Given the description of an element on the screen output the (x, y) to click on. 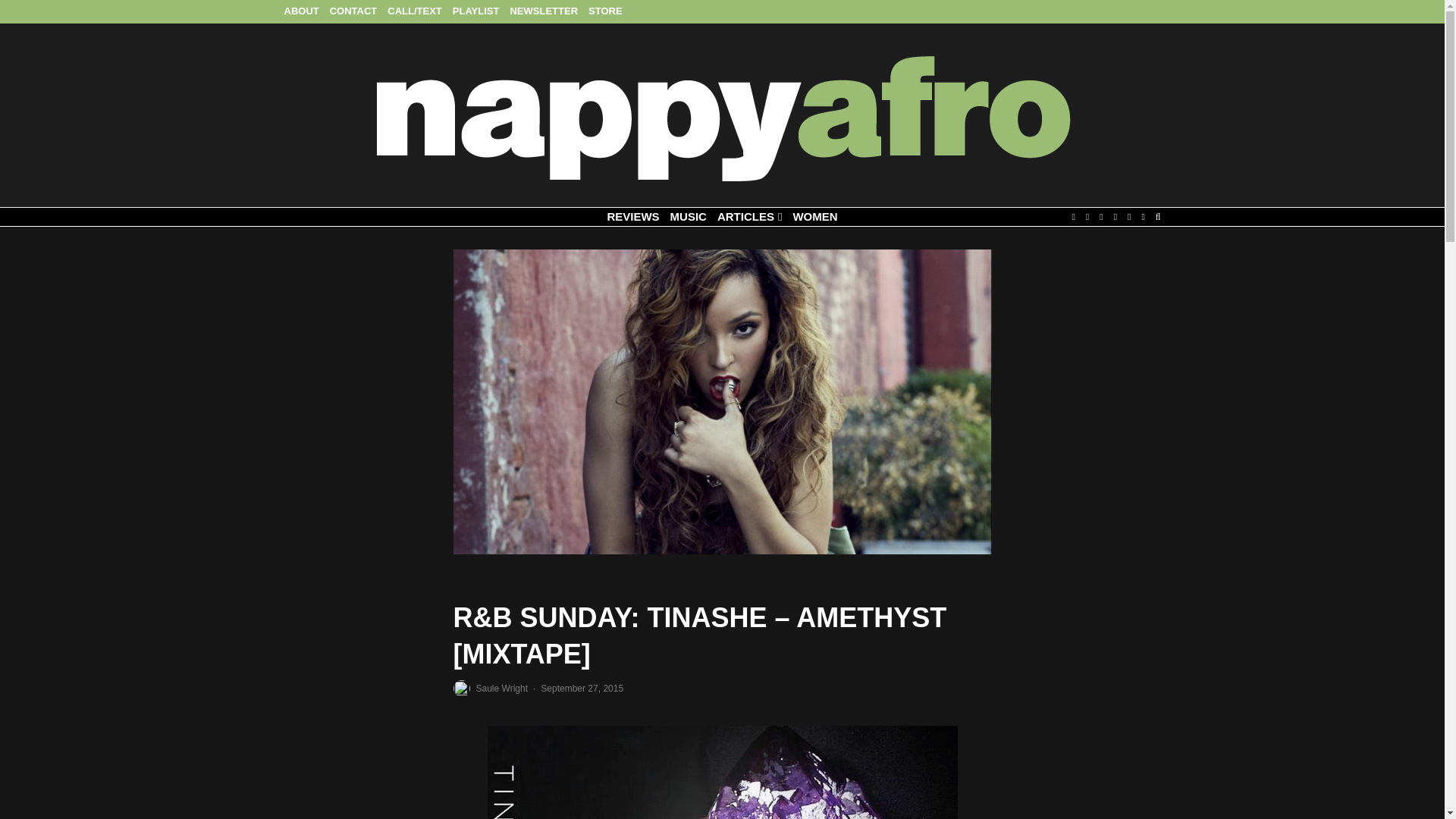
STORE (605, 11)
ARTICLES (749, 217)
REVIEWS (632, 217)
Posts by Saule Wright (501, 687)
MUSIC (688, 217)
NEWSLETTER (543, 11)
PLAYLIST (475, 11)
ABOUT (301, 11)
CONTACT (353, 11)
